Given the description of an element on the screen output the (x, y) to click on. 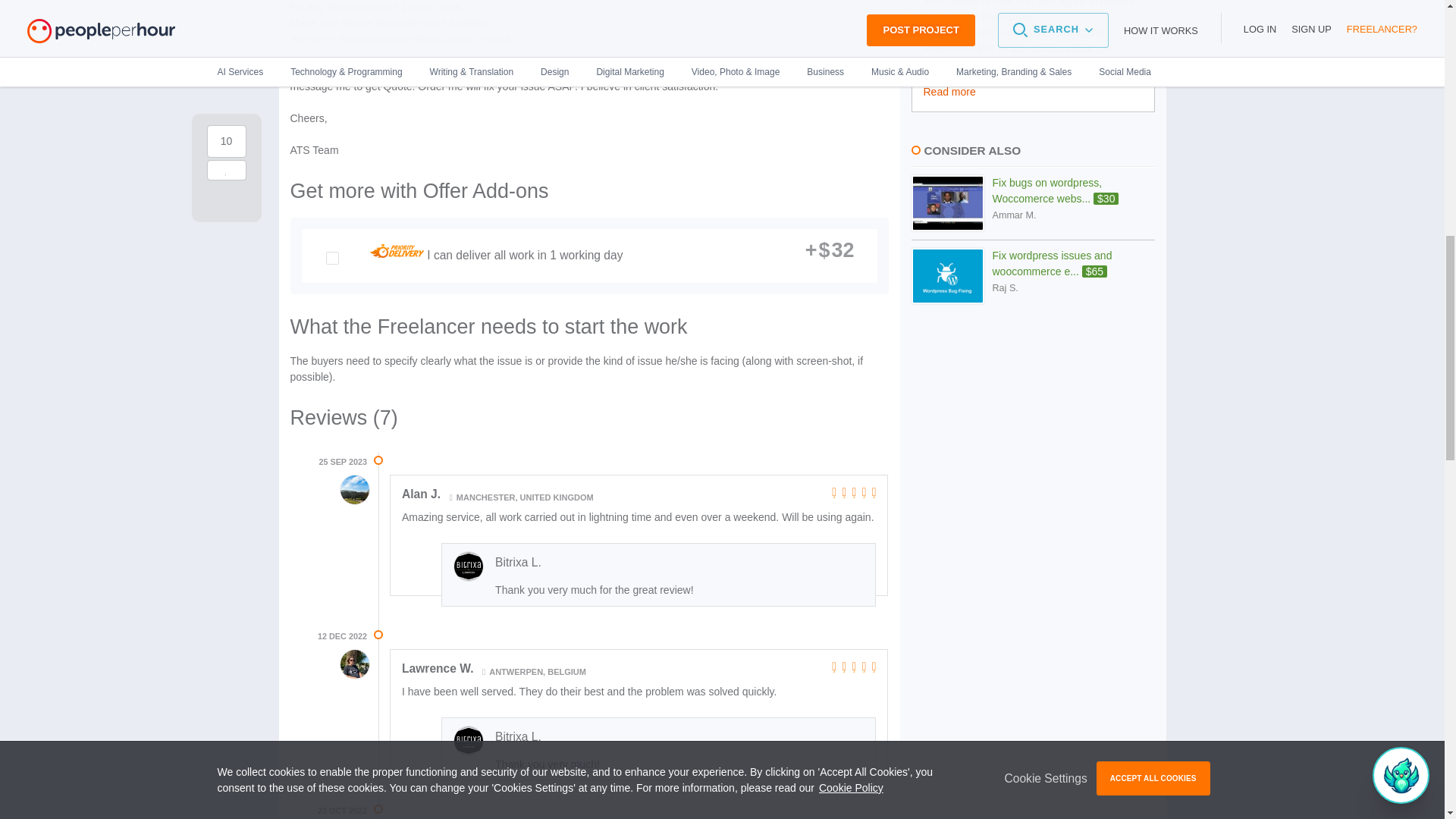
Fix bugs on wordpress, Woccomerce website (948, 202)
Sun, 23 Oct 2022  at 3:23am (341, 810)
Fix bugs on wordpress, Woccomerce website (1060, 192)
Buyer Tips (949, 91)
Mon, 12 Dec 2022  at 5:49pm (341, 635)
Mon, 25 Sep 2023  at 4:08pm (342, 461)
